Given the description of an element on the screen output the (x, y) to click on. 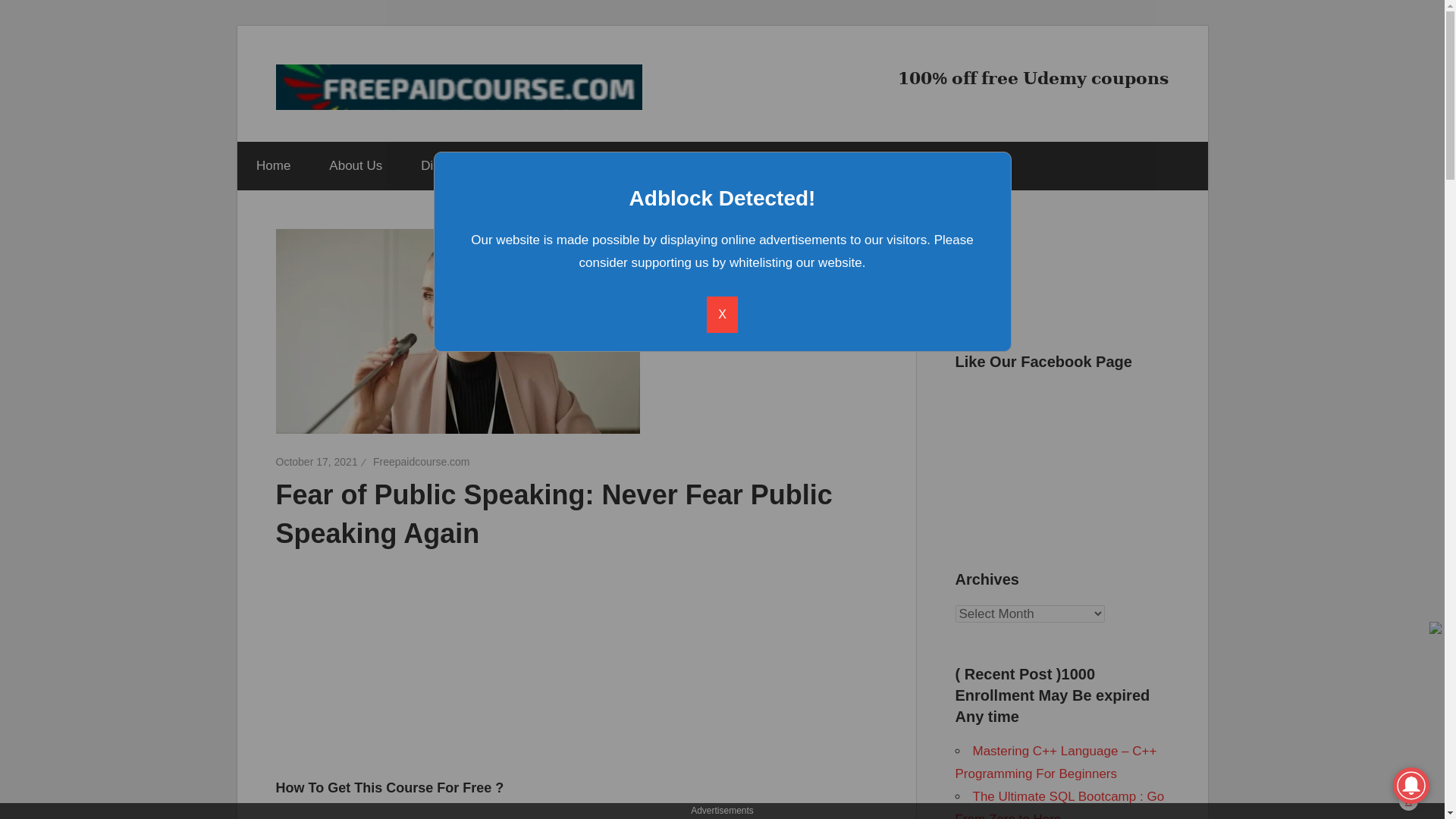
Privacy Policy (560, 165)
Fear of Public Speaking: Never Fear Public Speaking Again 1 (458, 331)
October 17, 2021 (317, 461)
10:30 am (317, 461)
Advertisement (713, 716)
About Us (355, 165)
Freepaidcourse.com (421, 461)
Advertisement (391, 652)
Contact Us (671, 165)
View all posts by Freepaidcourse.com (421, 461)
Home (271, 165)
Disclaimer (450, 165)
x (1408, 800)
